Given the description of an element on the screen output the (x, y) to click on. 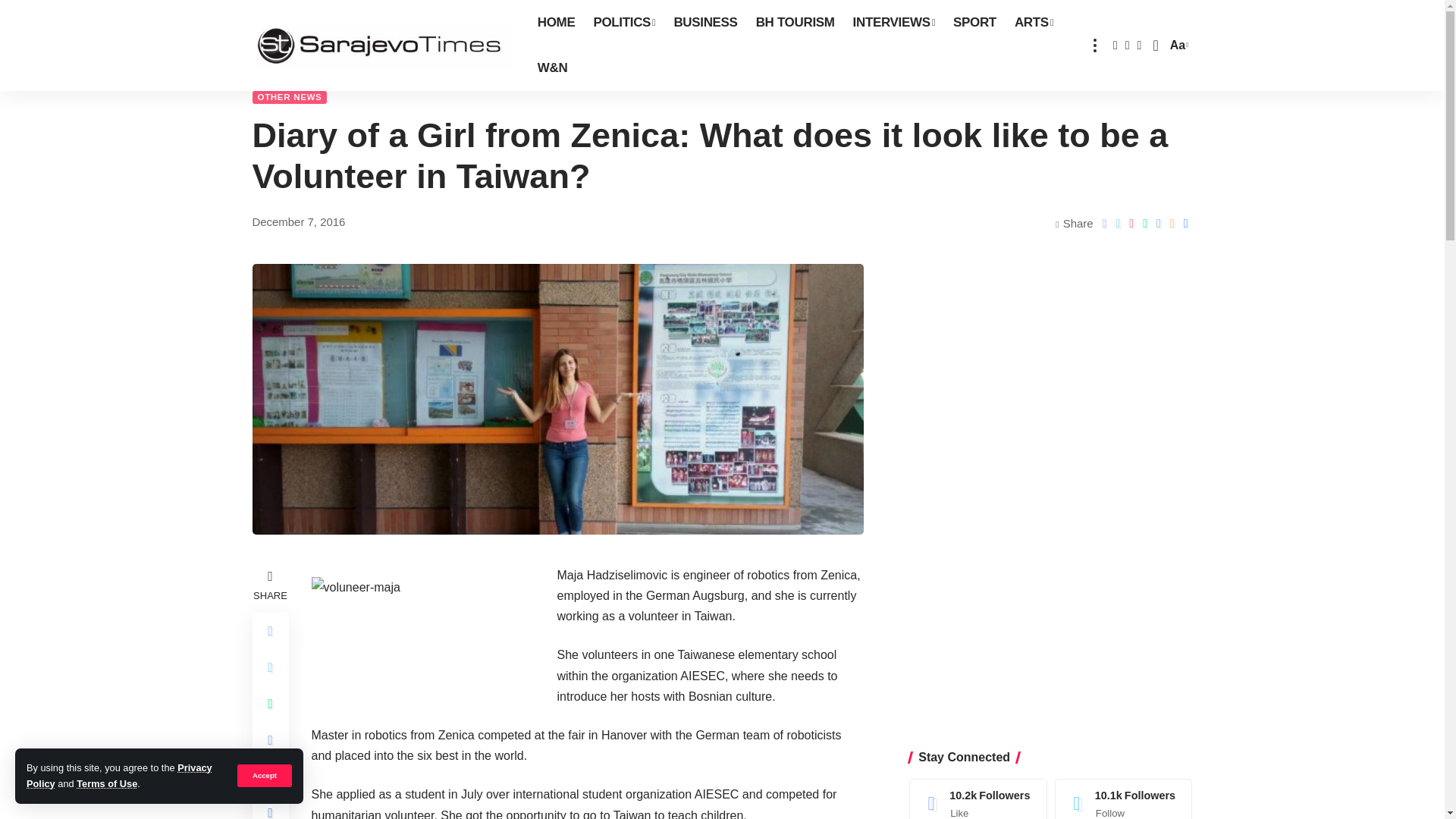
Go to Sarajevo Times. (287, 67)
Terms of Use (106, 783)
INTERVIEWS (893, 22)
Privacy Policy (119, 775)
Go to Blog. (345, 67)
POLITICS (623, 22)
ARTS (1034, 22)
BH TOURISM (795, 22)
BUSINESS (704, 22)
Aa (1177, 45)
Go to the OTHER NEWS Category archives. (484, 67)
HOME (556, 22)
Accept (264, 775)
Go to the OUR FINDINGS Category archives. (404, 67)
Sarajevo Times (381, 44)
